Given the description of an element on the screen output the (x, y) to click on. 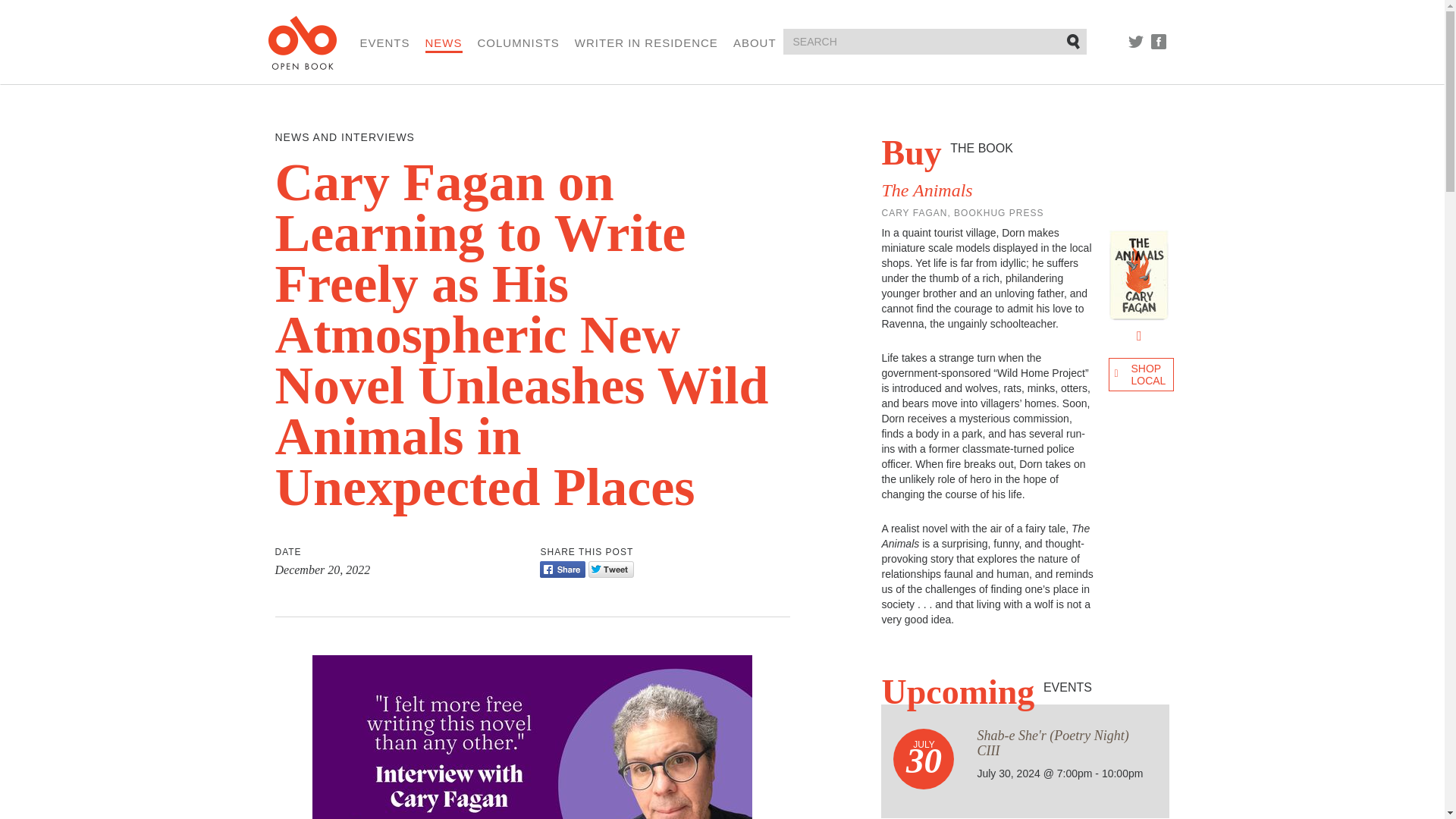
WRITER IN RESIDENCE (646, 43)
NEWS (444, 44)
Share (562, 569)
FACEBOOK (1158, 41)
Buy THE BOOK (945, 152)
OB Cary Fagan interview banner (532, 737)
ABOUT (754, 43)
COLUMNISTS (518, 43)
EVENTS (384, 43)
TWITTER (1135, 41)
Tweet (610, 569)
Find an independent bookseller near you (1140, 374)
Submit (1073, 40)
